Given the description of an element on the screen output the (x, y) to click on. 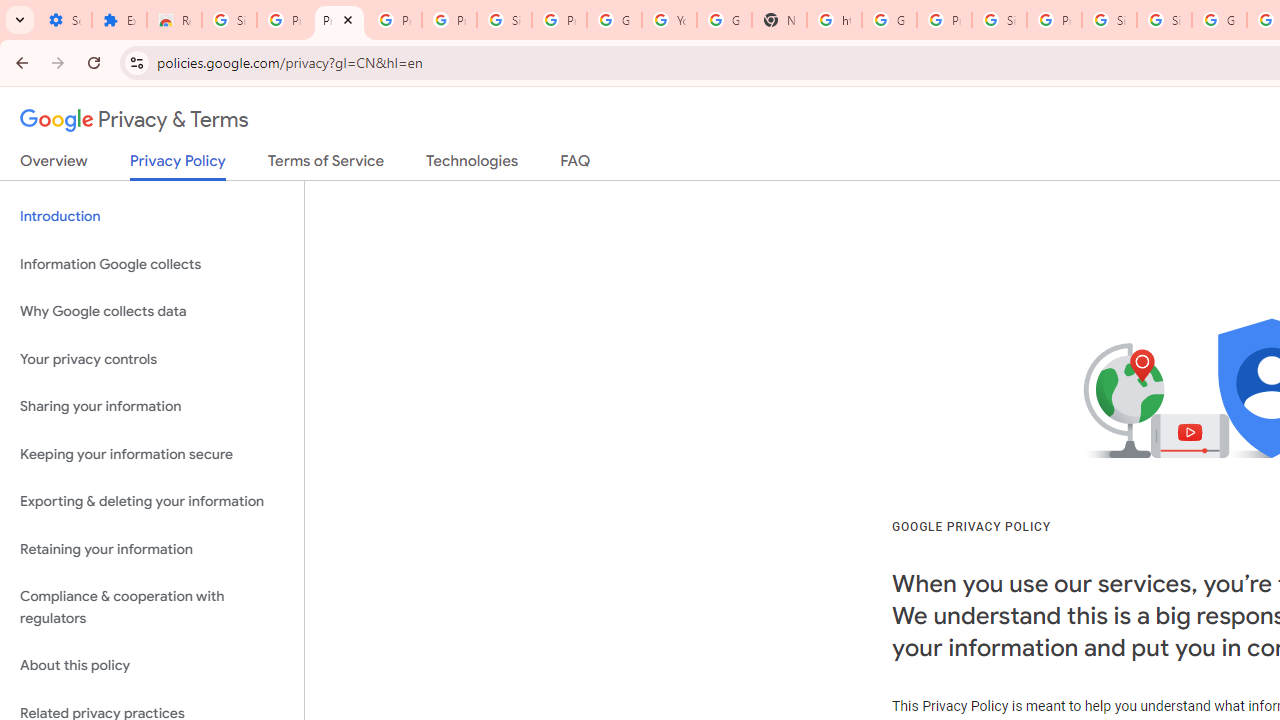
FAQ (575, 165)
Settings - On startup (64, 20)
Compliance & cooperation with regulators (152, 607)
Extensions (119, 20)
Sign in - Google Accounts (1108, 20)
New Tab (779, 20)
Why Google collects data (152, 312)
